Given the description of an element on the screen output the (x, y) to click on. 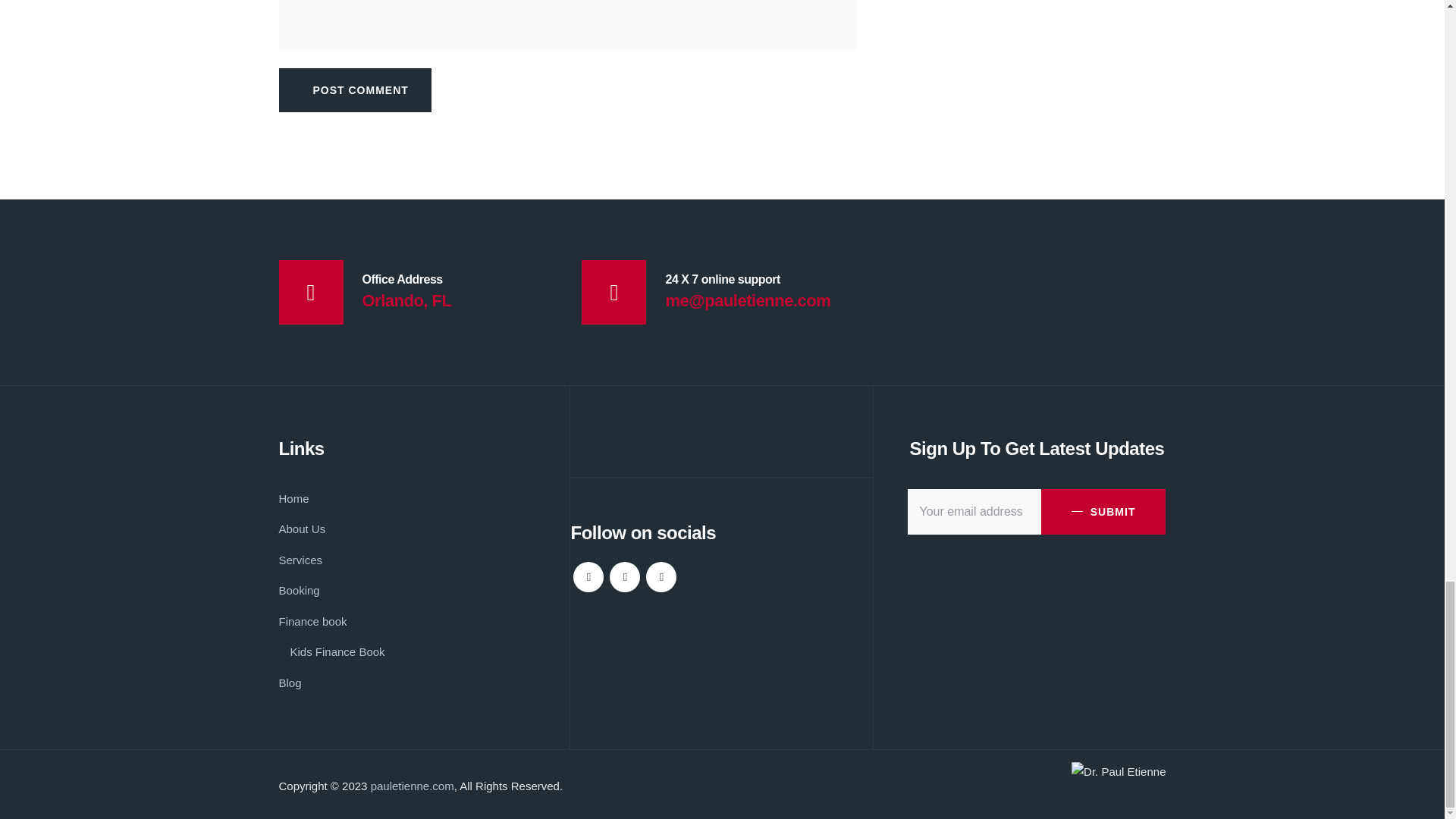
Dr. Paul Etienne (1118, 772)
Post Comment (354, 89)
Post Comment (354, 89)
